Given the description of an element on the screen output the (x, y) to click on. 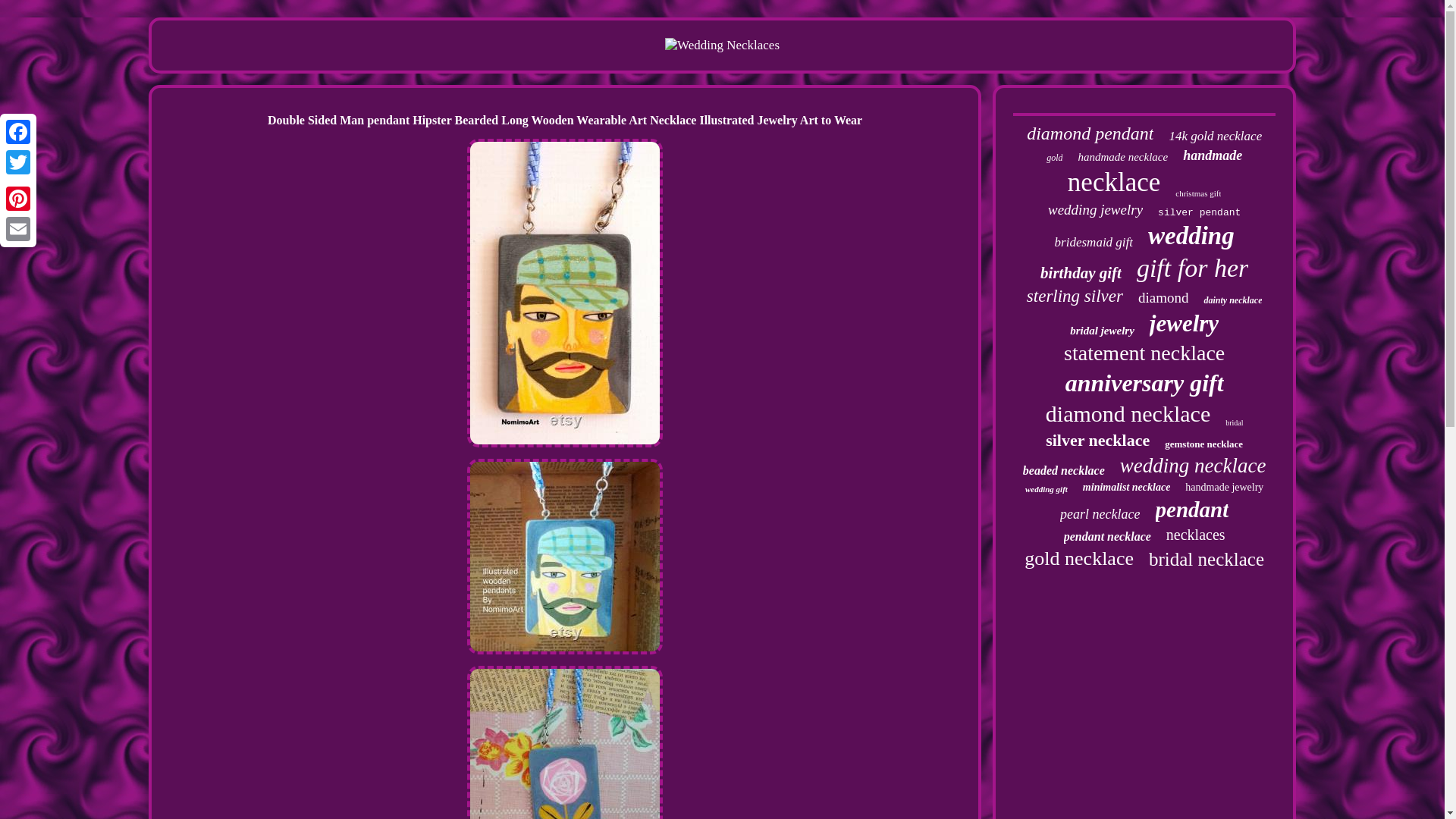
Email (17, 228)
beaded necklace (1064, 470)
14k gold necklace (1215, 136)
birthday gift (1081, 272)
wedding necklace (1192, 465)
Twitter (17, 162)
sterling silver (1074, 296)
diamond pendant (1089, 133)
handmade necklace (1122, 156)
diamond (1163, 297)
